Given the description of an element on the screen output the (x, y) to click on. 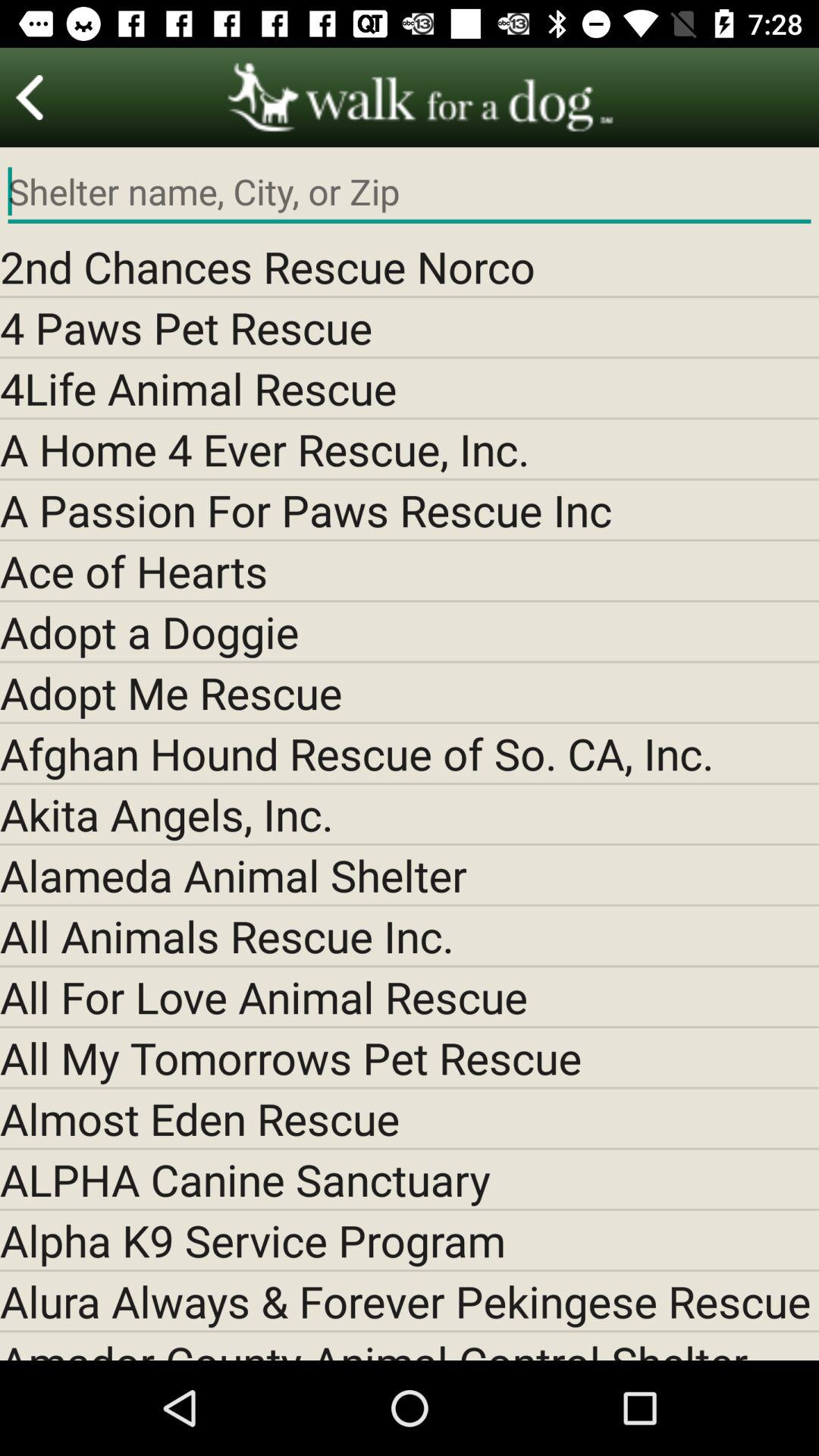
go back (29, 97)
